Given the description of an element on the screen output the (x, y) to click on. 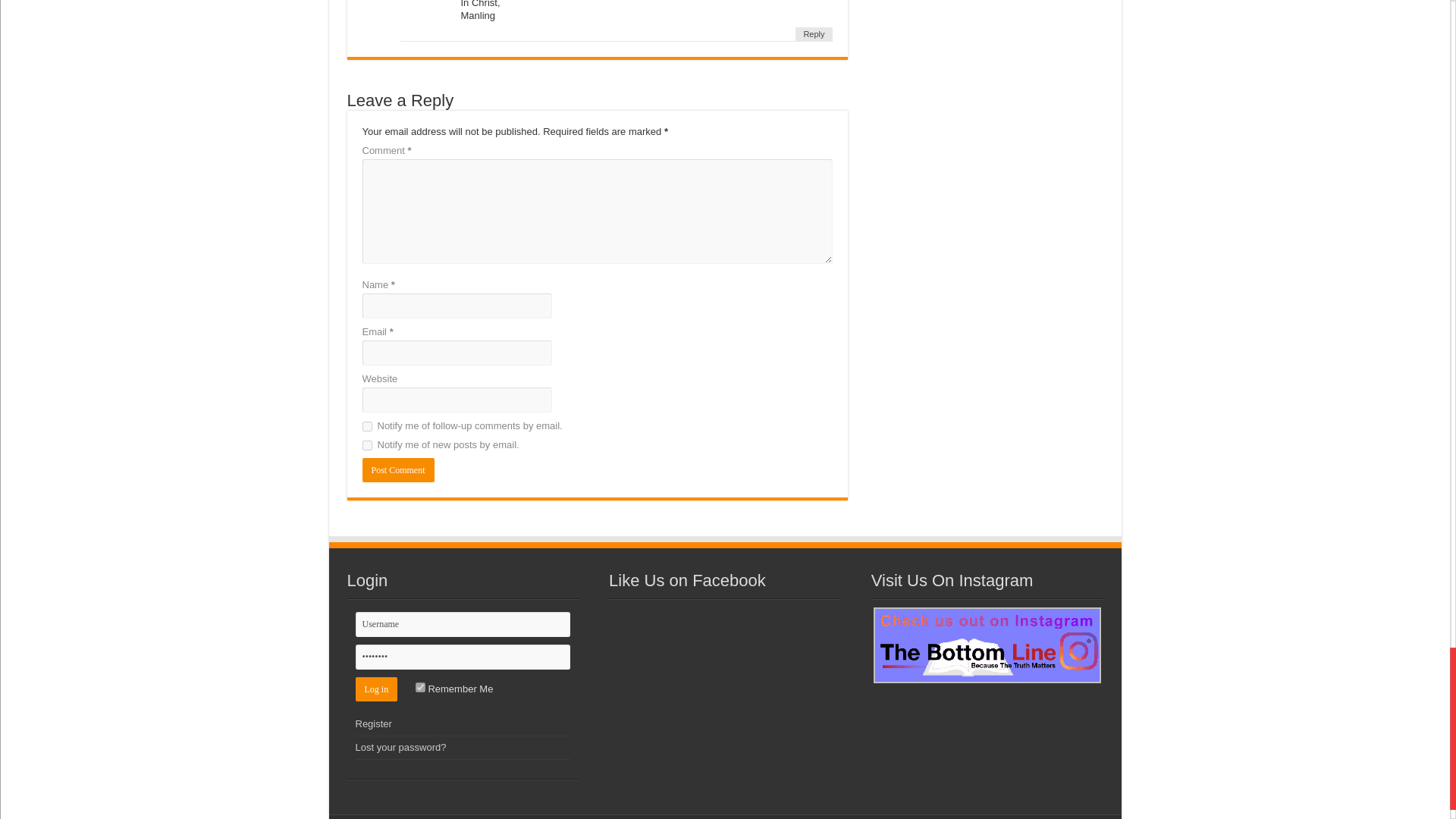
Password (462, 656)
forever (419, 687)
subscribe (367, 426)
Post Comment (397, 469)
Username (462, 624)
subscribe (367, 445)
Log in (376, 689)
